Given the description of an element on the screen output the (x, y) to click on. 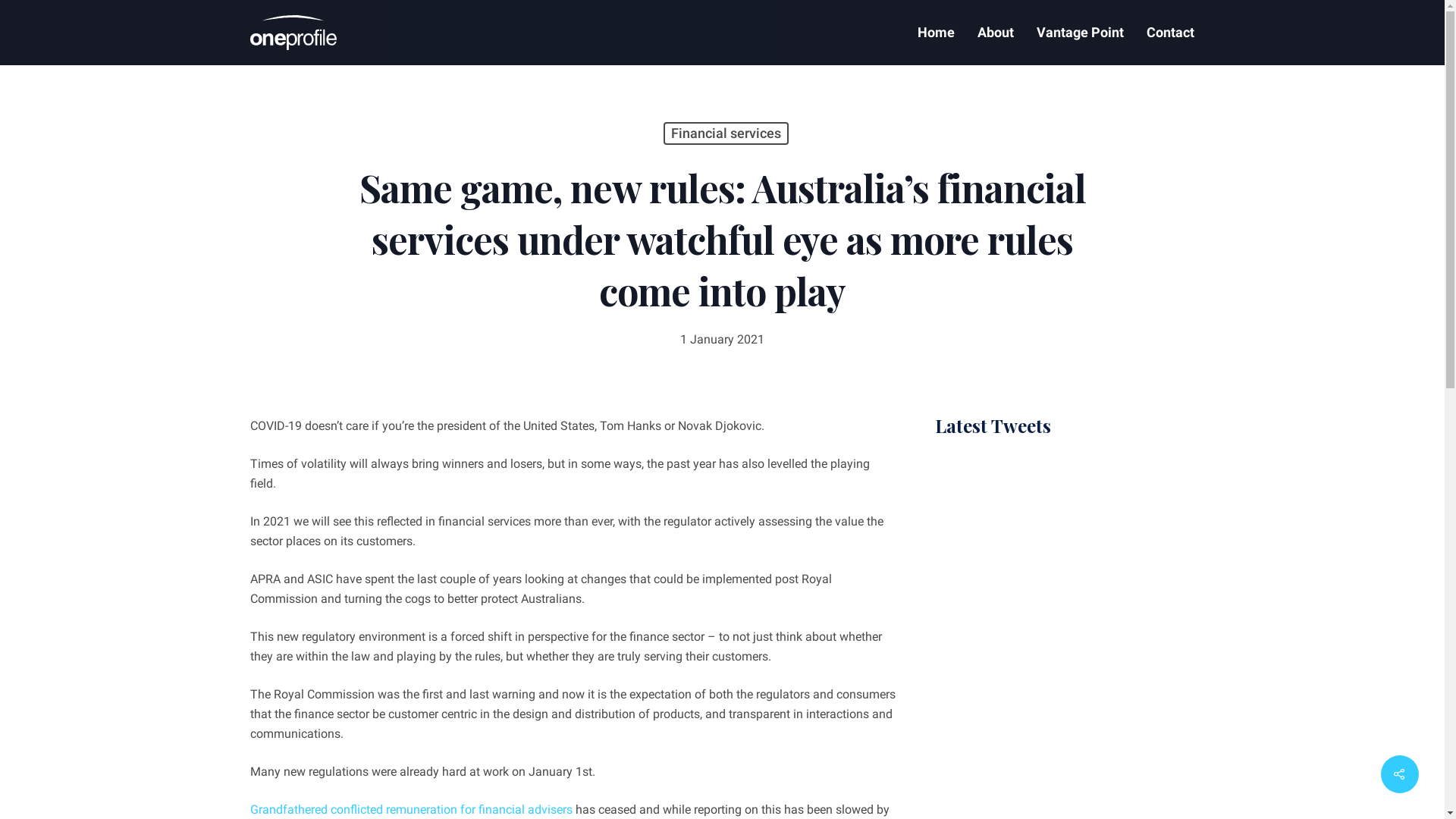
About Element type: text (995, 32)
Home Element type: text (936, 32)
Contact Element type: text (1164, 32)
  Element type: text (936, 458)
Grandfathered conflicted remuneration for financial advisers Element type: text (411, 809)
Financial services Element type: text (724, 133)
Vantage Point Element type: text (1080, 32)
